Given the description of an element on the screen output the (x, y) to click on. 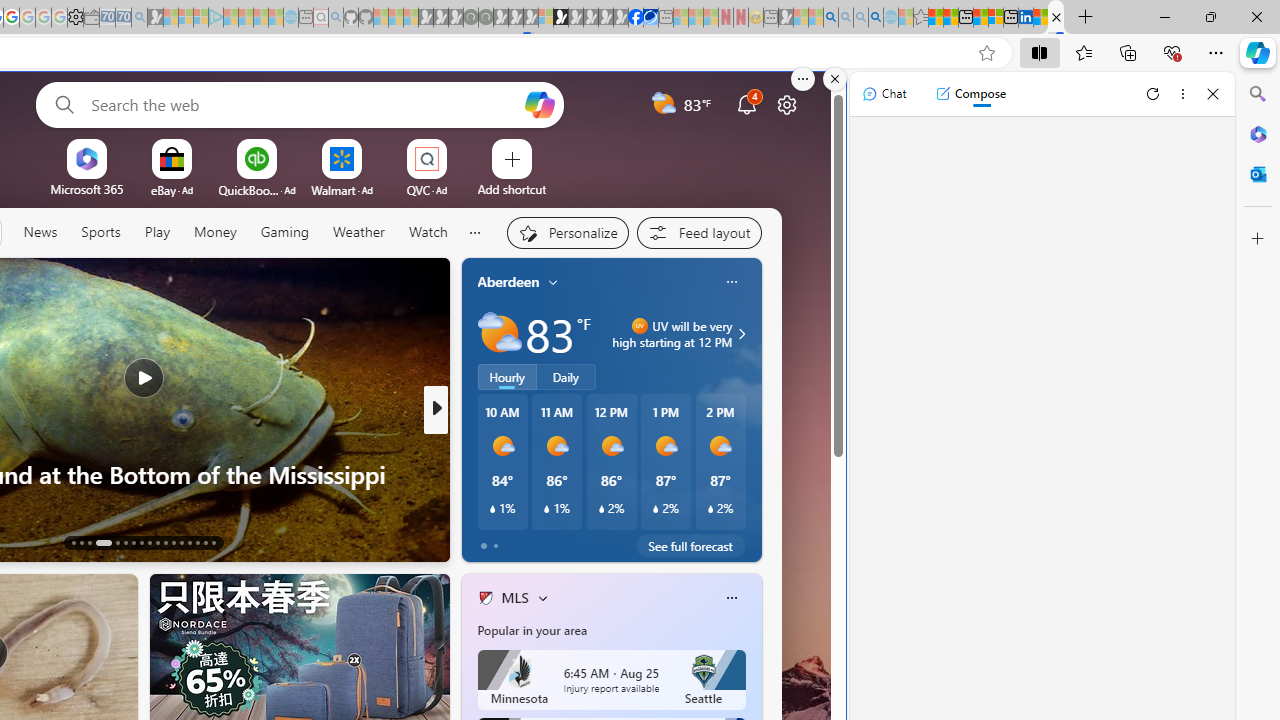
LendingTree (501, 442)
AutomationID: tab-21 (148, 542)
Class: icon-img (731, 597)
What If (477, 473)
Partly sunny (499, 333)
Personalize your feed" (566, 232)
Far & Wide (477, 473)
